Given the description of an element on the screen output the (x, y) to click on. 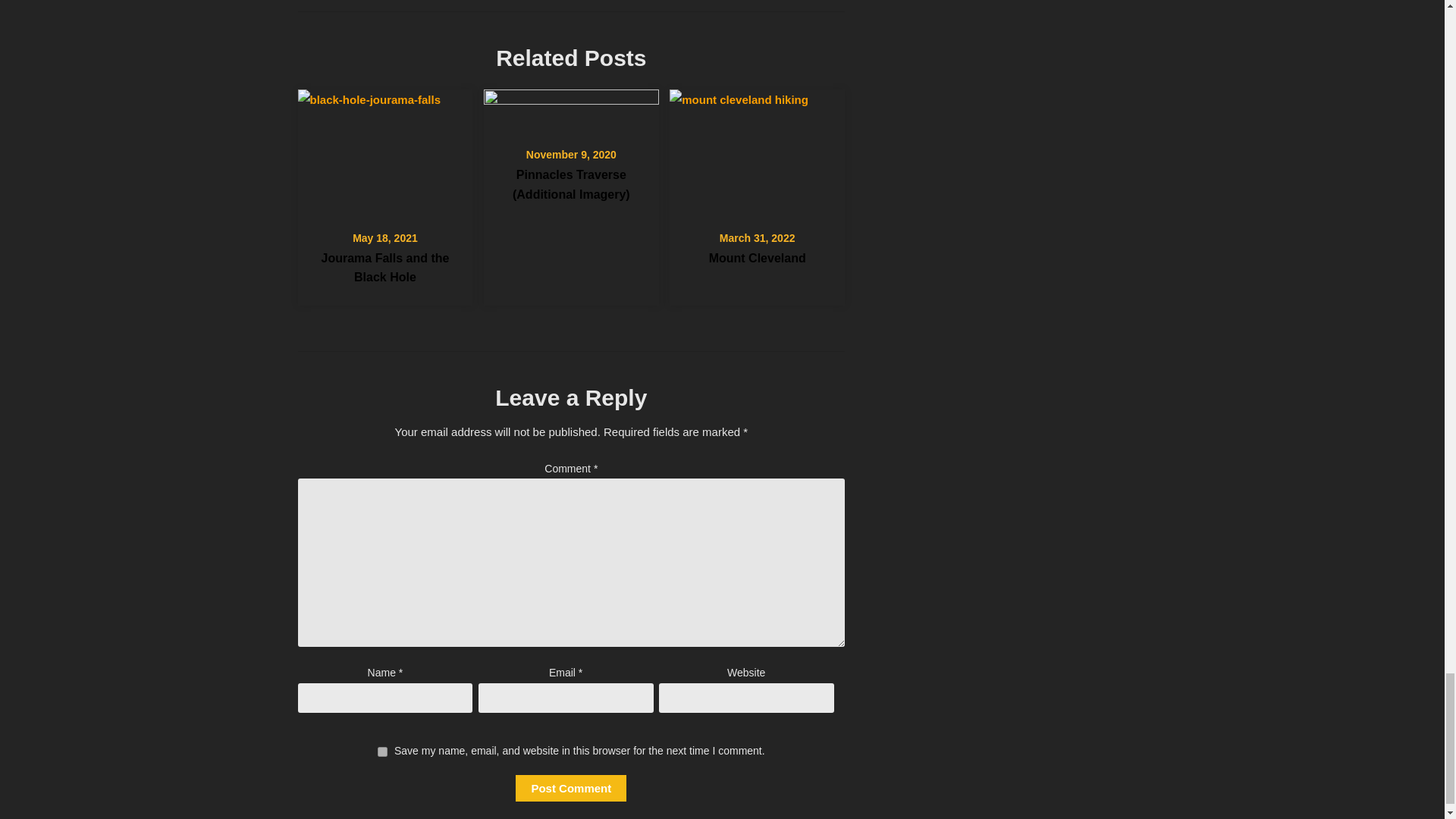
Mount Cleveland (757, 257)
Post Comment (570, 787)
Jourama Falls and the Black Hole (384, 149)
Post Comment (570, 787)
Jourama Falls and the Black Hole (384, 267)
yes (382, 751)
Mount Cleveland (756, 149)
